Given the description of an element on the screen output the (x, y) to click on. 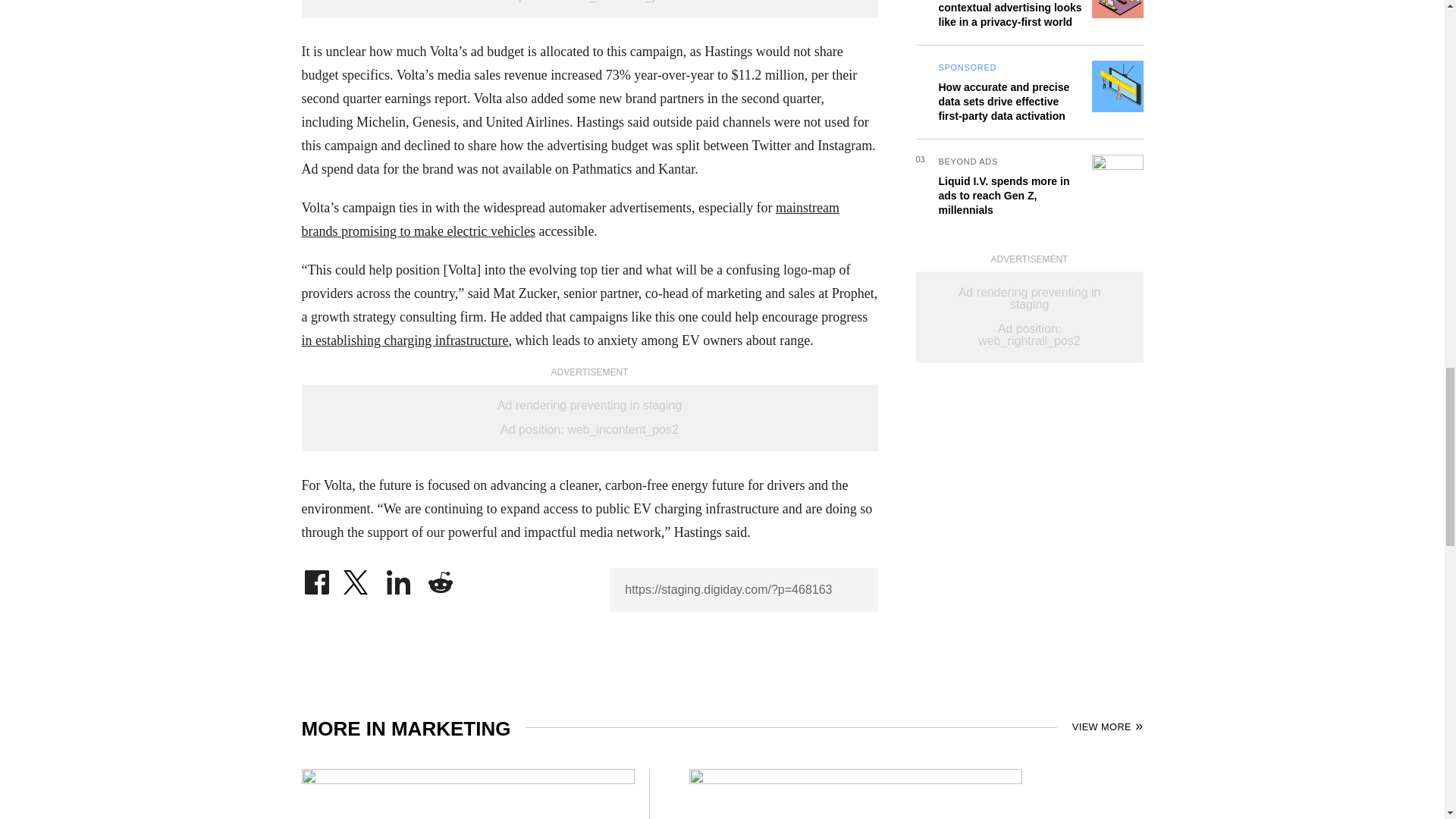
Share on Twitter (357, 578)
Liquid I.V. spends more in ads to reach Gen Z, millennials (1004, 51)
Share on LinkedIn (398, 578)
Share on Reddit (440, 578)
Share on Facebook (316, 578)
